Given the description of an element on the screen output the (x, y) to click on. 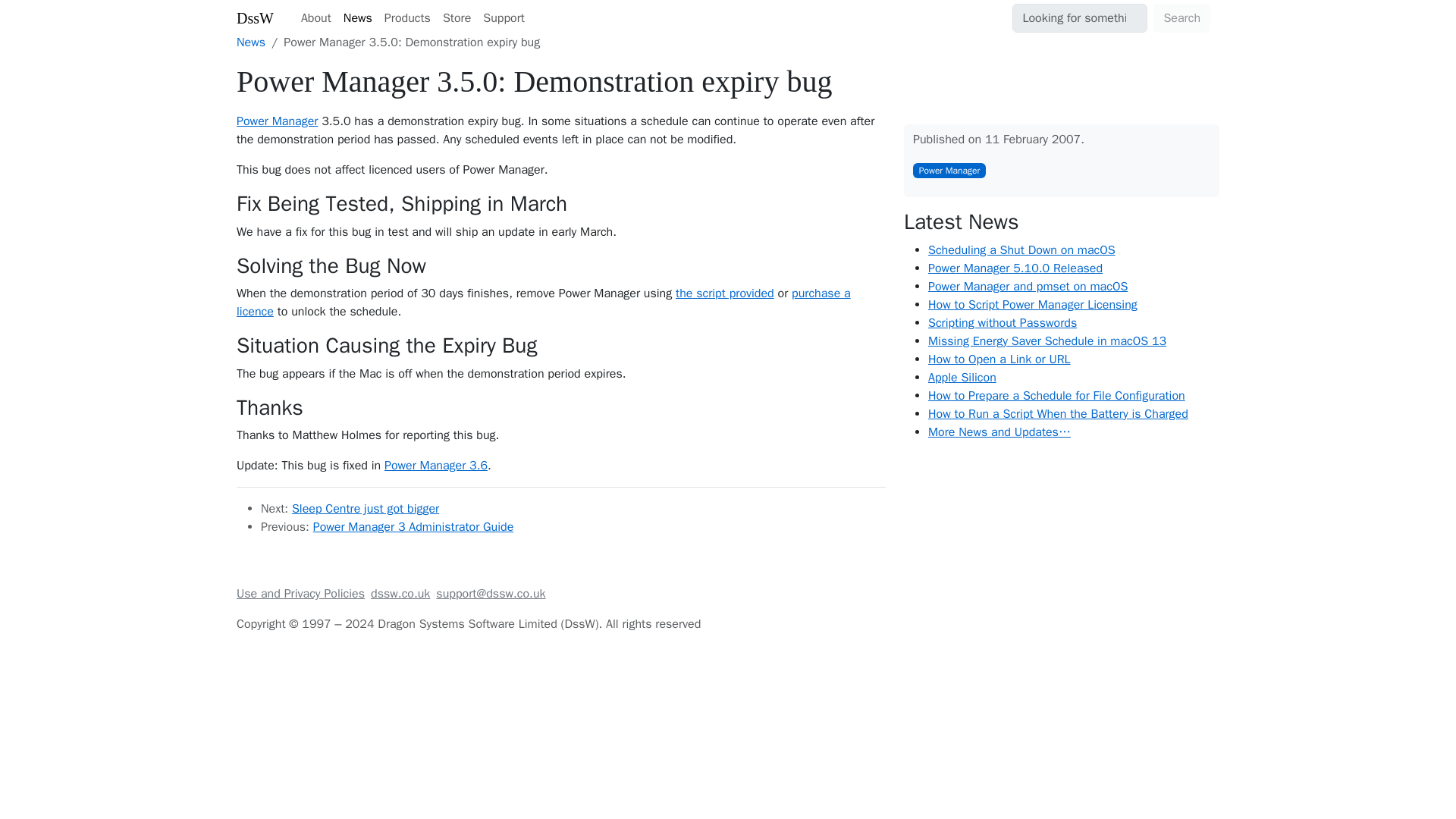
Power Manager 3 Administrator Guide (413, 526)
How to Prepare a Schedule for File Configuration (1056, 395)
Power Manager 5.10.0 Released (1015, 268)
Scheduling a Shut Down on macOS (1021, 249)
the script provided (724, 293)
Power Manager (276, 120)
About (316, 18)
How to Open a Link or URL (999, 359)
News and Updates (249, 42)
Power Manager 3.6 (435, 465)
